Given the description of an element on the screen output the (x, y) to click on. 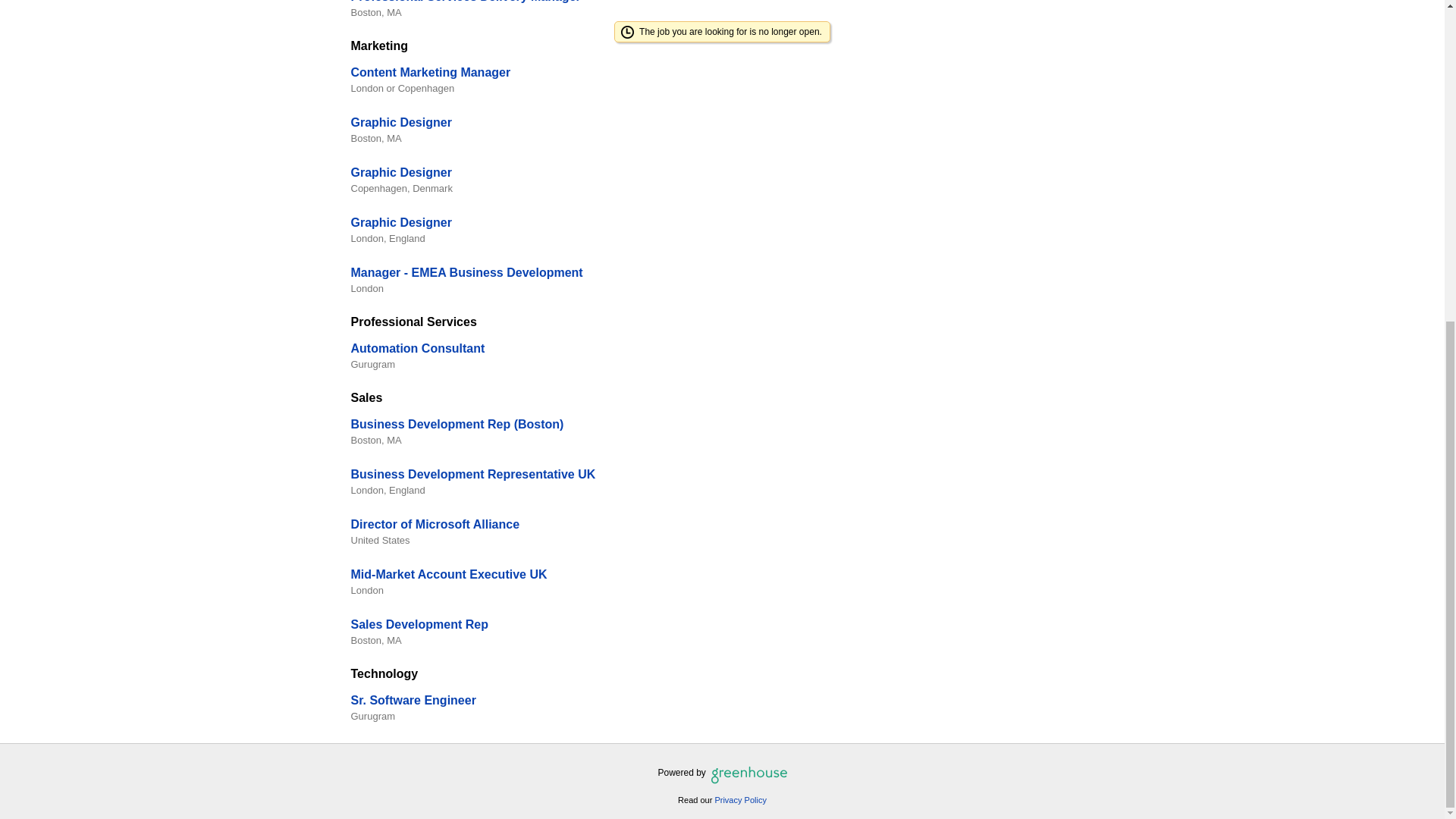
Director of Microsoft Alliance (434, 523)
Sr. Software Engineer (413, 699)
Professional Services Delivery Manager (464, 1)
Content Marketing Manager (430, 72)
Graphic Designer (400, 172)
Graphic Designer (400, 122)
Privacy Policy (739, 799)
Business Development Representative UK (472, 473)
Manager - EMEA Business Development (466, 272)
Sales Development Rep (418, 624)
Automation Consultant (417, 348)
Mid-Market Account Executive UK (448, 574)
Graphic Designer (400, 222)
